Given the description of an element on the screen output the (x, y) to click on. 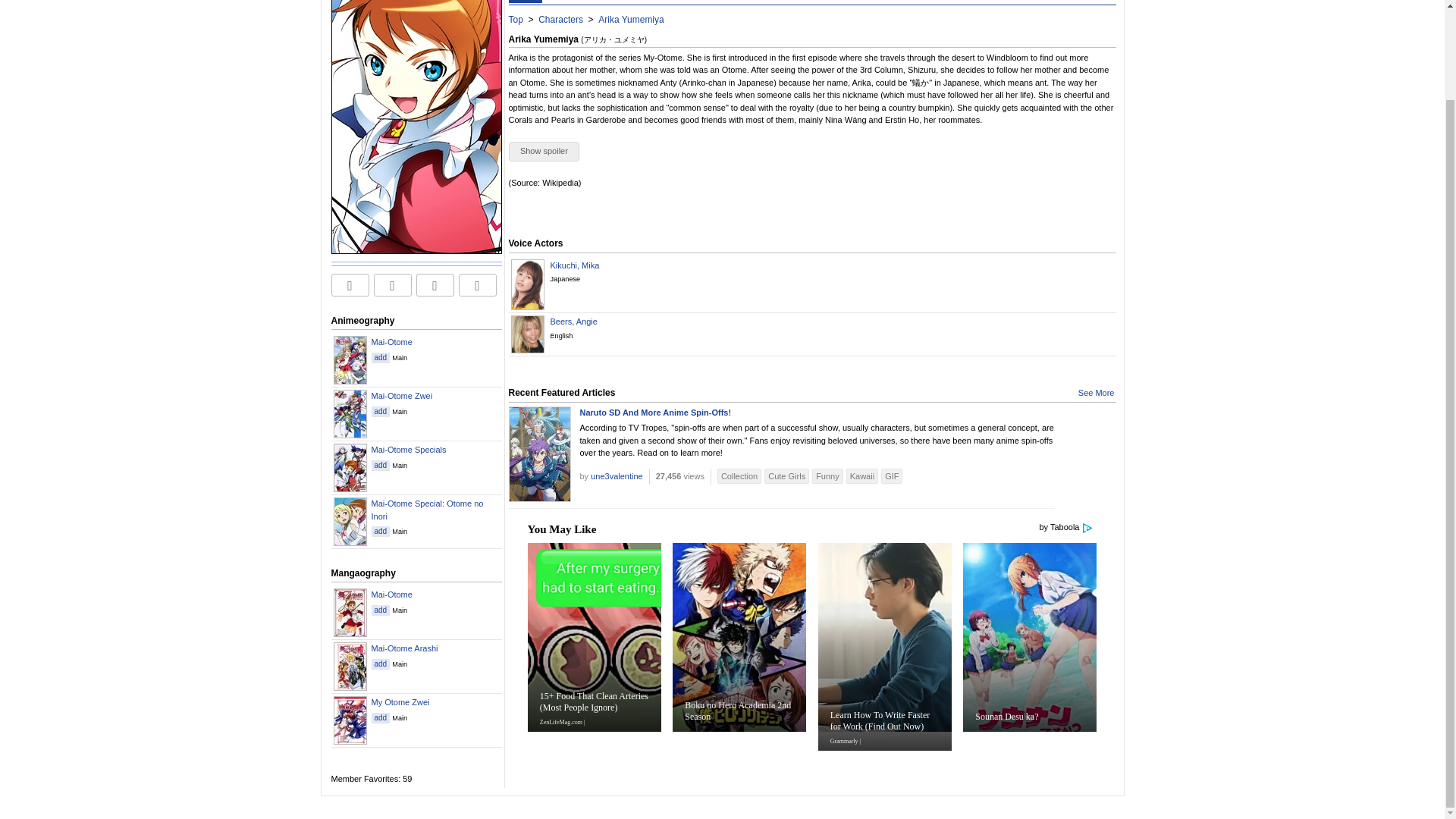
GIF (891, 476)
Cute Girls (786, 476)
Naruto SD And More Anime Spin-Offs! (654, 411)
Funny (827, 476)
Show spoiler (543, 151)
Collection (739, 476)
Boku no Hero Academia 2nd Season (739, 668)
Kawaii (861, 476)
